Given the description of an element on the screen output the (x, y) to click on. 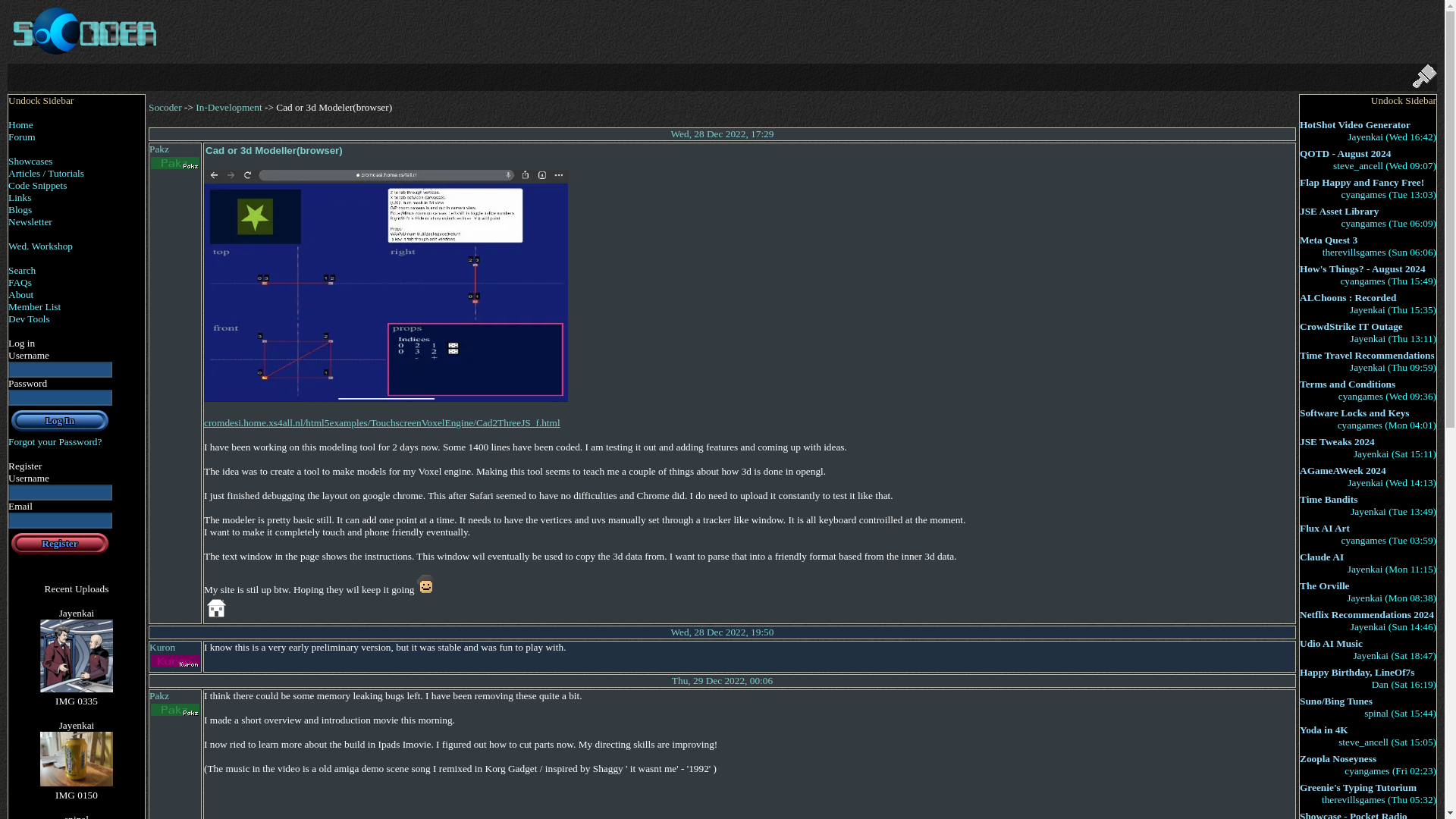
Newsletter (30, 221)
Home (20, 124)
Dev Tools (28, 318)
Showcases (30, 161)
Blogs (20, 209)
Forum (21, 136)
How's Things? - August 2024 (1362, 268)
Log In (59, 420)
FAQs (20, 282)
About (20, 294)
